Given the description of an element on the screen output the (x, y) to click on. 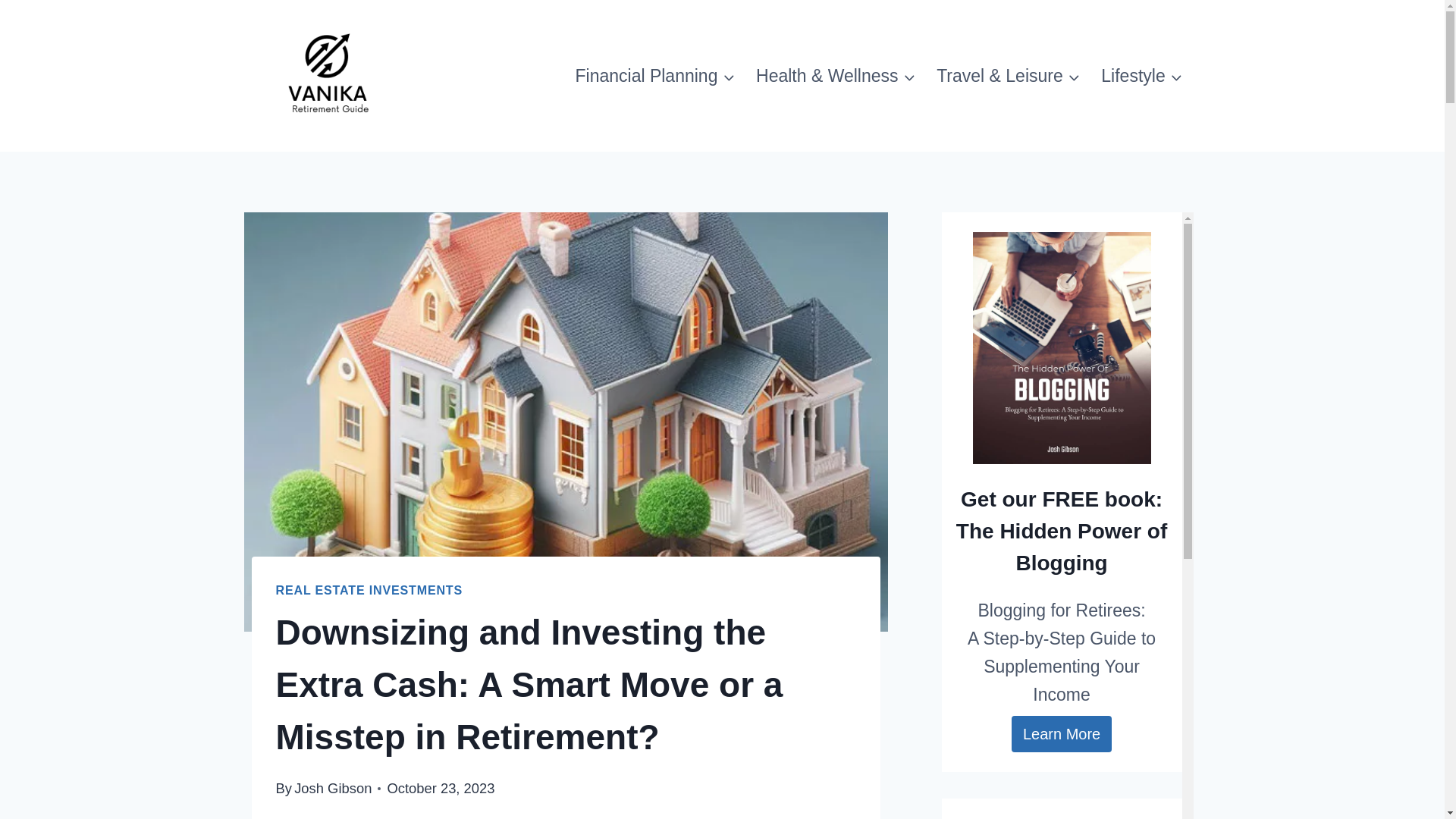
Financial Planning (654, 75)
Lifestyle (1141, 75)
